Given the description of an element on the screen output the (x, y) to click on. 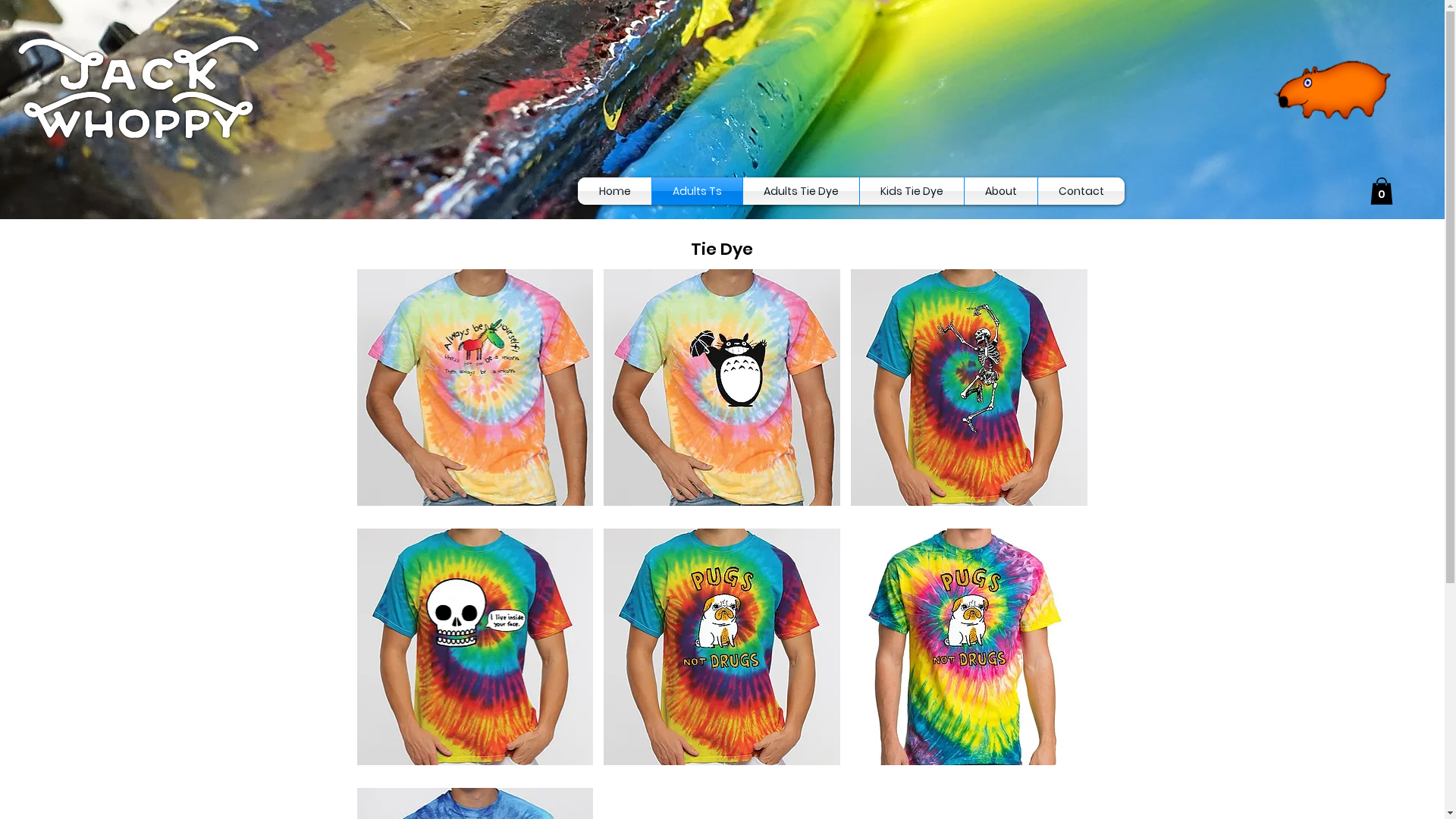
Adults Ts Element type: text (697, 190)
Adults Tie Dye Element type: text (801, 190)
Contact Element type: text (1081, 190)
0 Element type: text (1381, 190)
Kids Tie Dye Element type: text (911, 190)
About Element type: text (1000, 190)
Home Element type: text (614, 190)
